Given the description of an element on the screen output the (x, y) to click on. 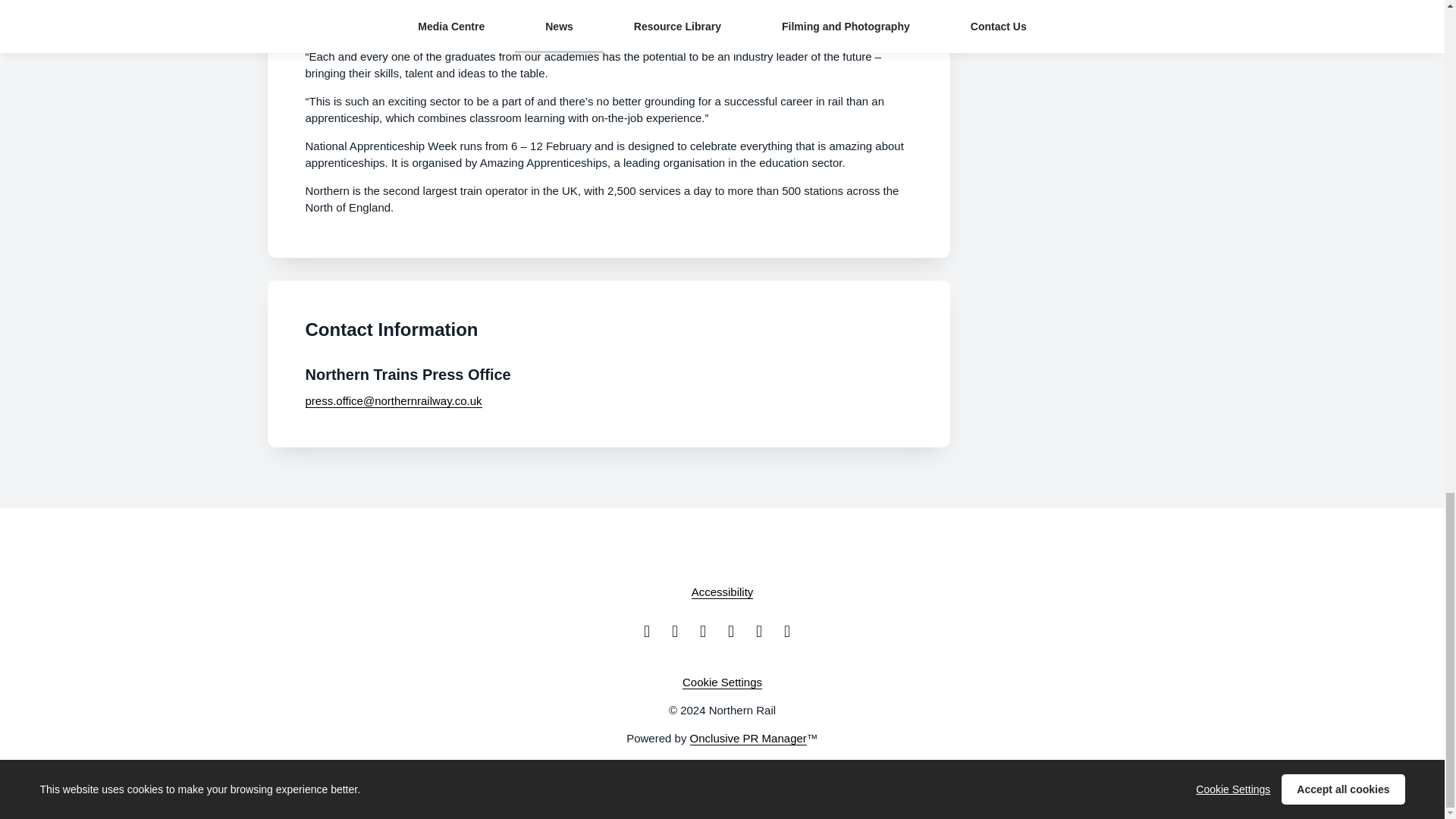
Email (652, 631)
Onclusive PR Manager (748, 738)
Cookie Settings (721, 682)
YouTube (792, 631)
Facebook (679, 631)
Instagram (708, 631)
LinkedIn (736, 631)
Twitter (764, 631)
Accessibility (722, 591)
Accessibility (722, 591)
